Given the description of an element on the screen output the (x, y) to click on. 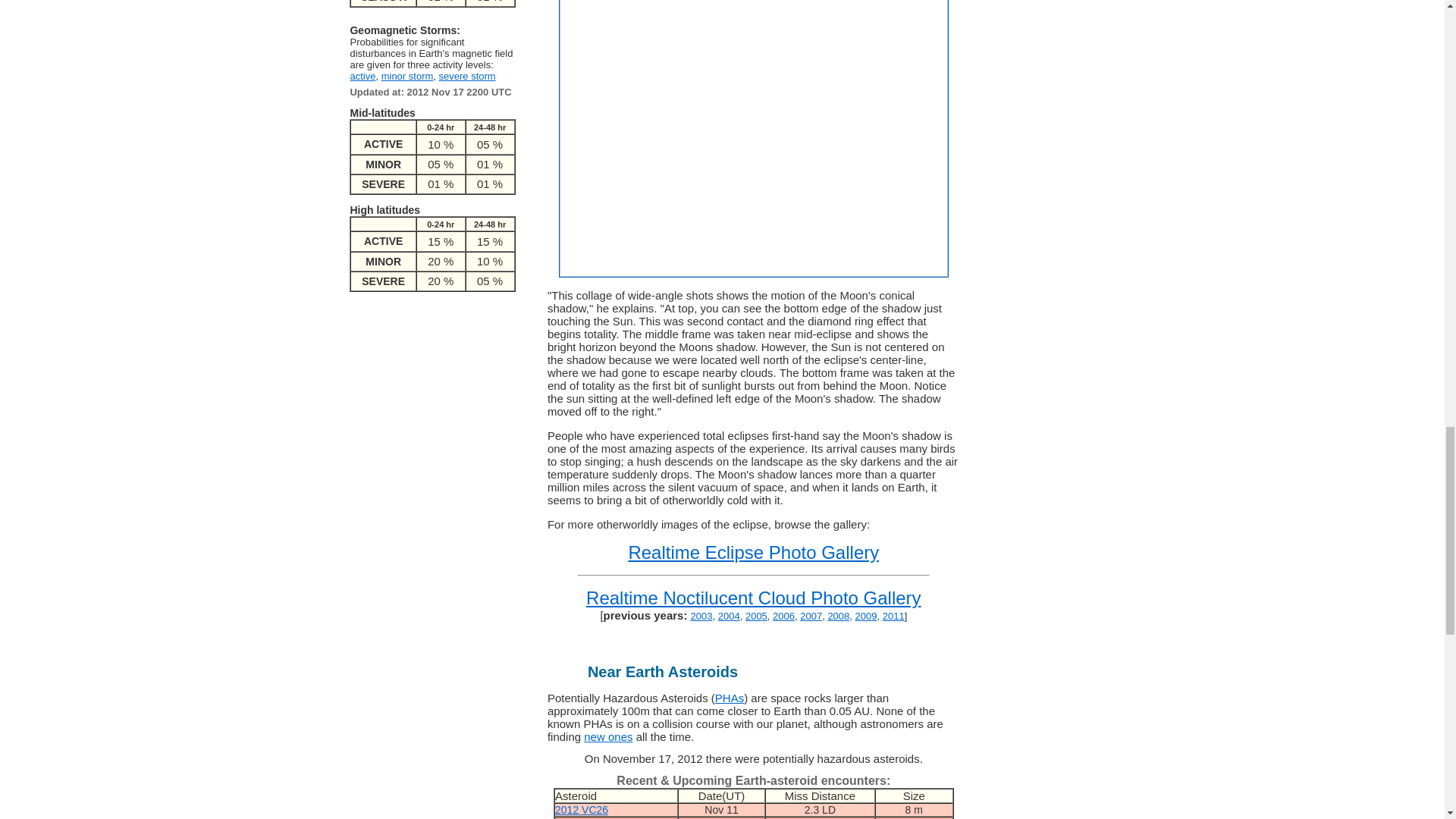
minor storm (407, 75)
active (362, 75)
severe storm (467, 75)
